Given the description of an element on the screen output the (x, y) to click on. 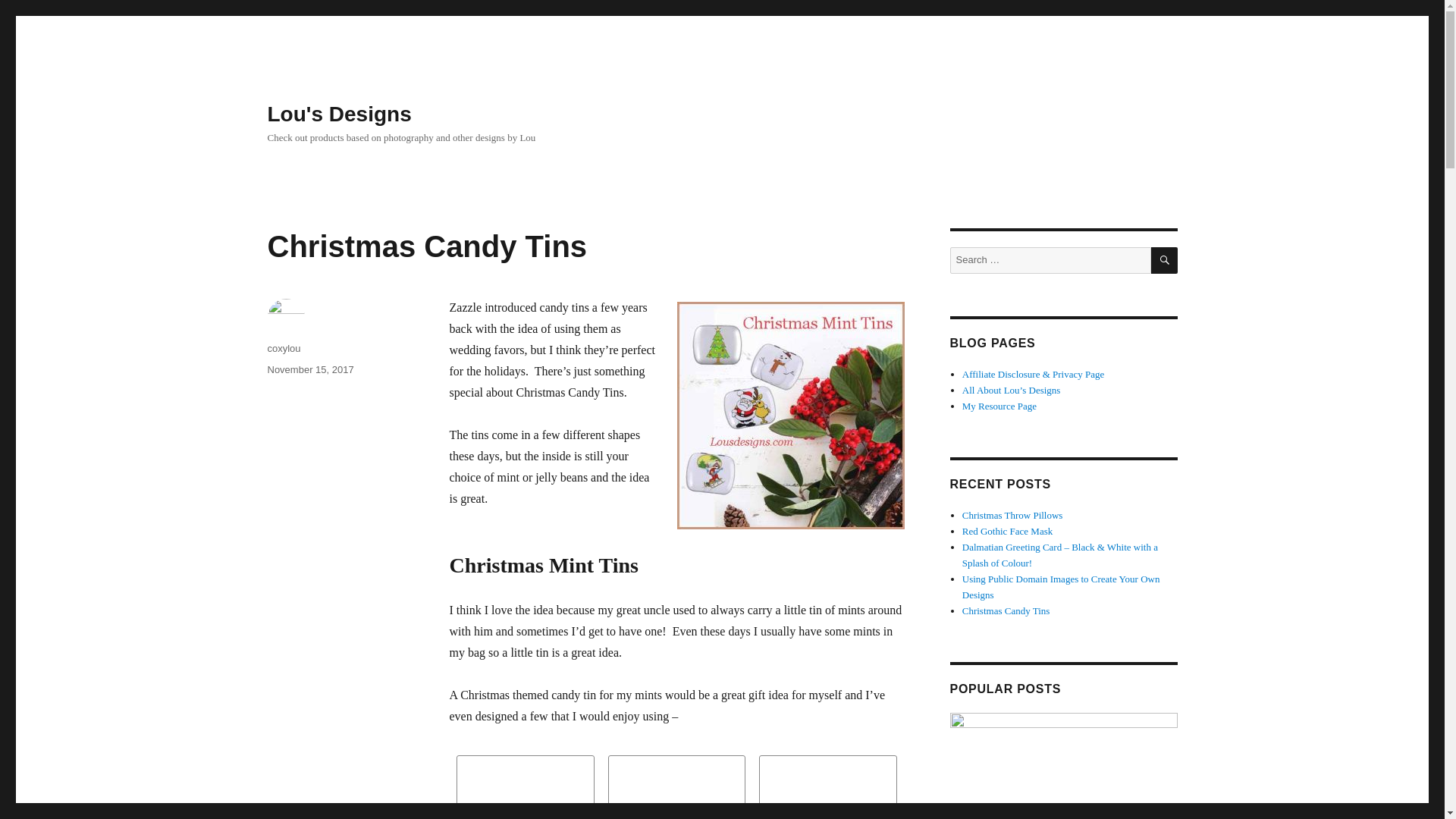
Red Gothic Face Mask (1007, 531)
coxylou (282, 348)
 Cute Snowman Candy Tin (827, 787)
Vintage Winter Scene Candy Tin (676, 787)
Cute Snowman Candy Tin (827, 787)
Christmas Throw Pillows (1012, 514)
Using Public Domain Images to Create Your Own Designs (1061, 586)
 Fun Snowman Candy Tin (525, 787)
 Vintage Winter Scene Candy Tin (676, 787)
Lou's Designs (338, 114)
